Given the description of an element on the screen output the (x, y) to click on. 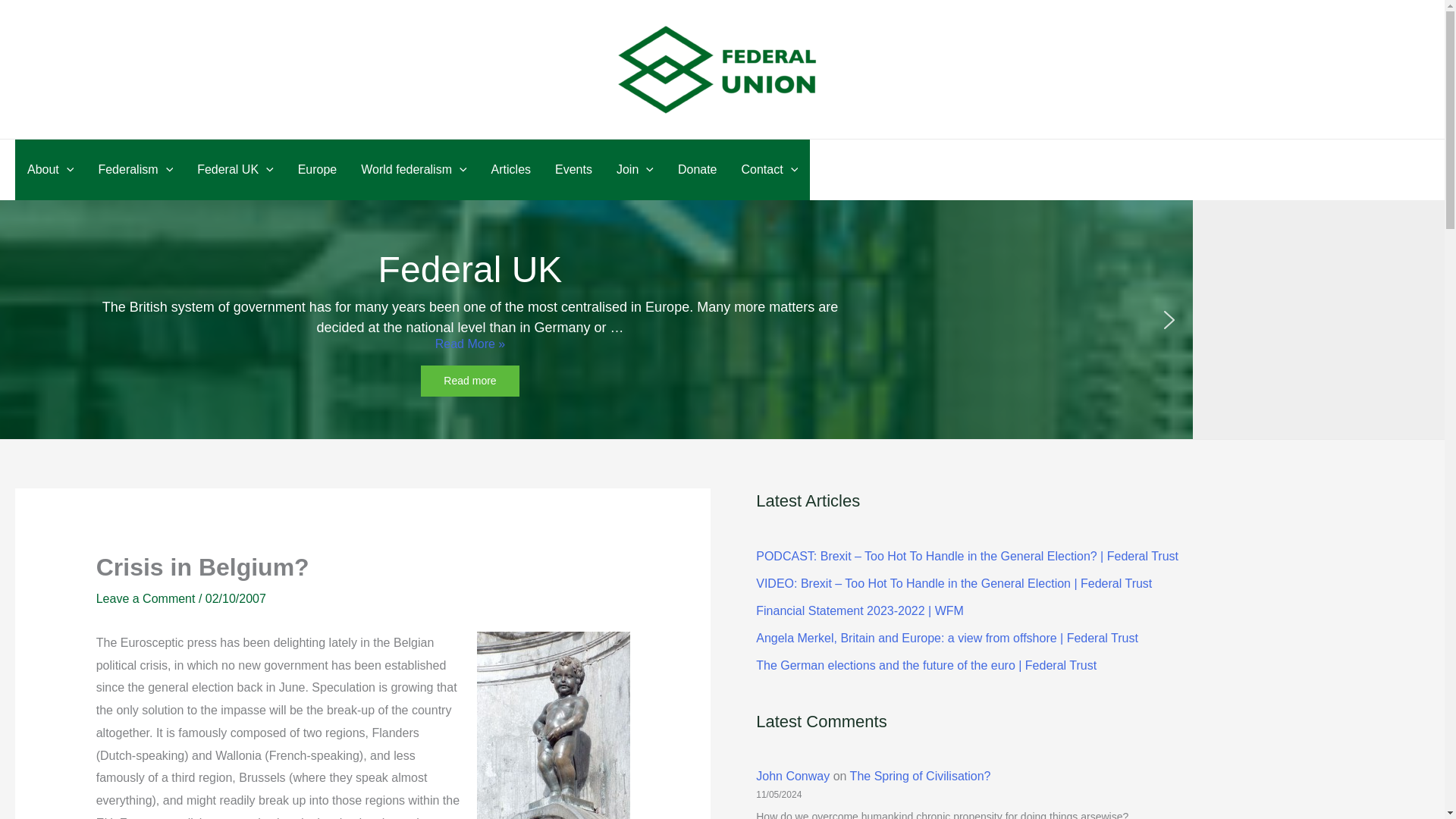
World federalism (414, 169)
Read more (469, 380)
Europe (317, 169)
Articles (511, 169)
Join (634, 169)
Events (573, 169)
Federal UK (234, 169)
Contact (769, 169)
Federalism (134, 169)
Donate (697, 169)
About (49, 169)
